Given the description of an element on the screen output the (x, y) to click on. 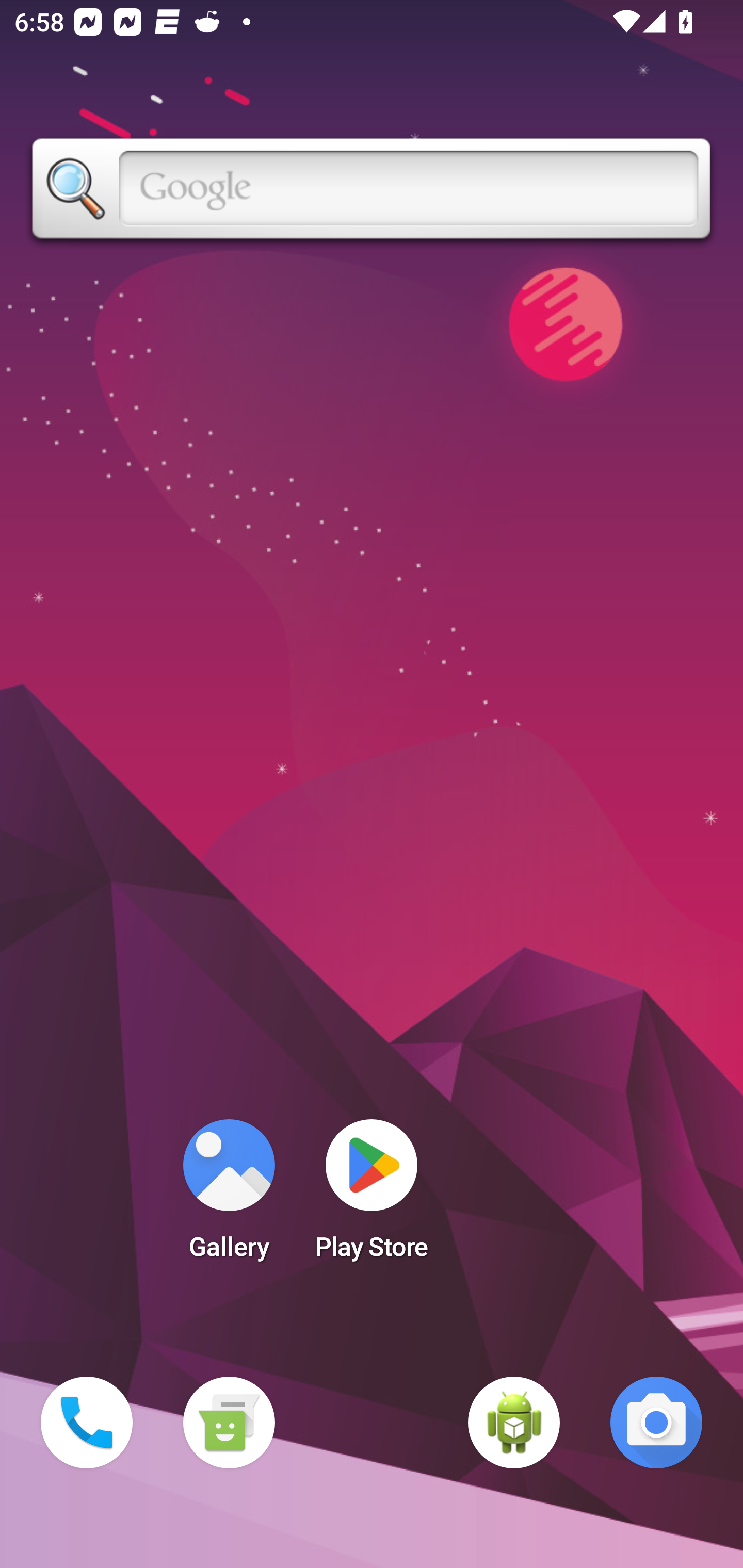
Gallery (228, 1195)
Play Store (371, 1195)
Phone (86, 1422)
Messaging (228, 1422)
WebView Browser Tester (513, 1422)
Camera (656, 1422)
